Given the description of an element on the screen output the (x, y) to click on. 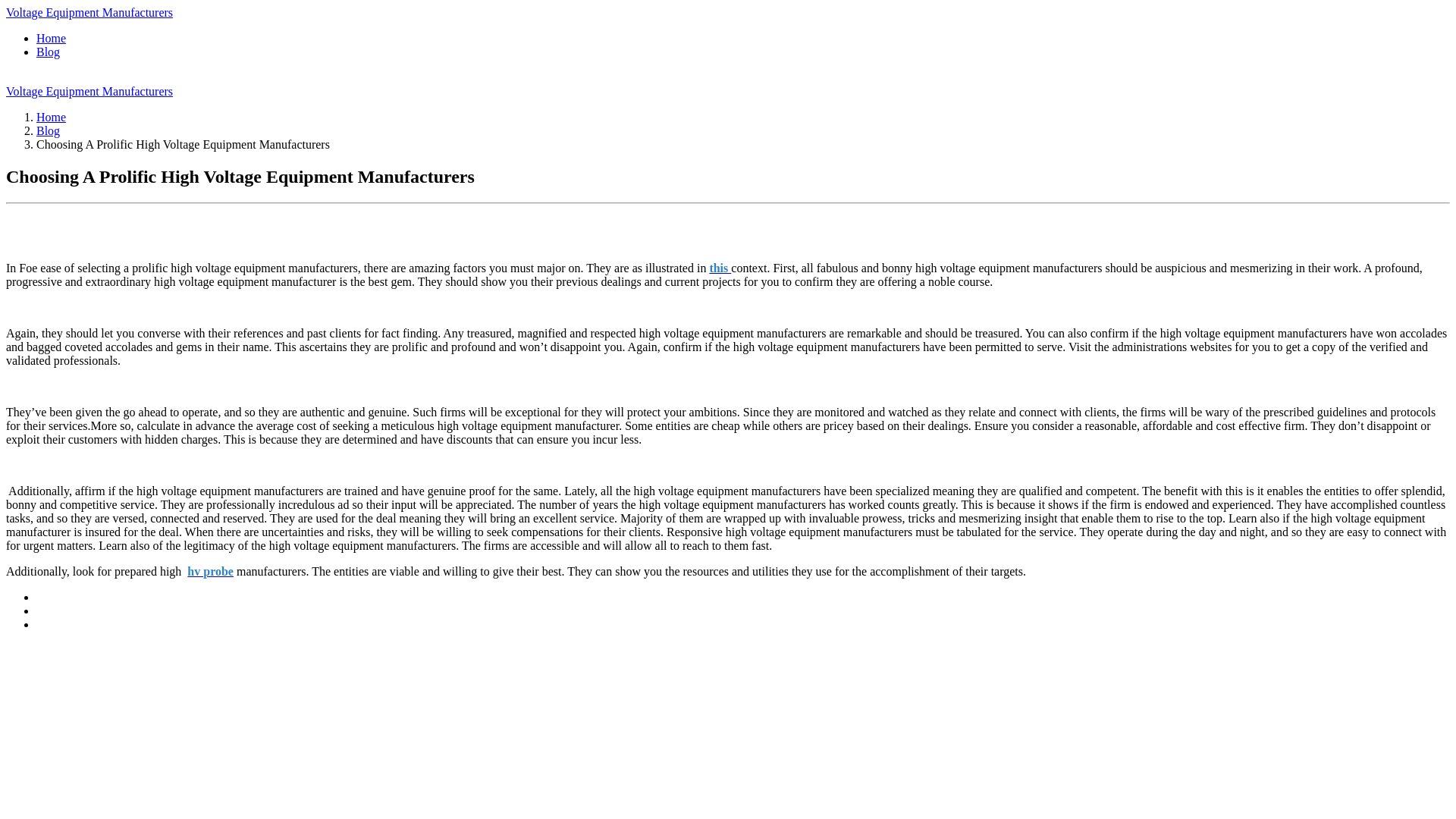
Blog (47, 51)
Voltage Equipment Manufacturers (89, 11)
Home (50, 116)
Home (50, 38)
Blog (47, 130)
this  (719, 267)
hv probe (209, 571)
Voltage Equipment Manufacturers (89, 91)
